Given the description of an element on the screen output the (x, y) to click on. 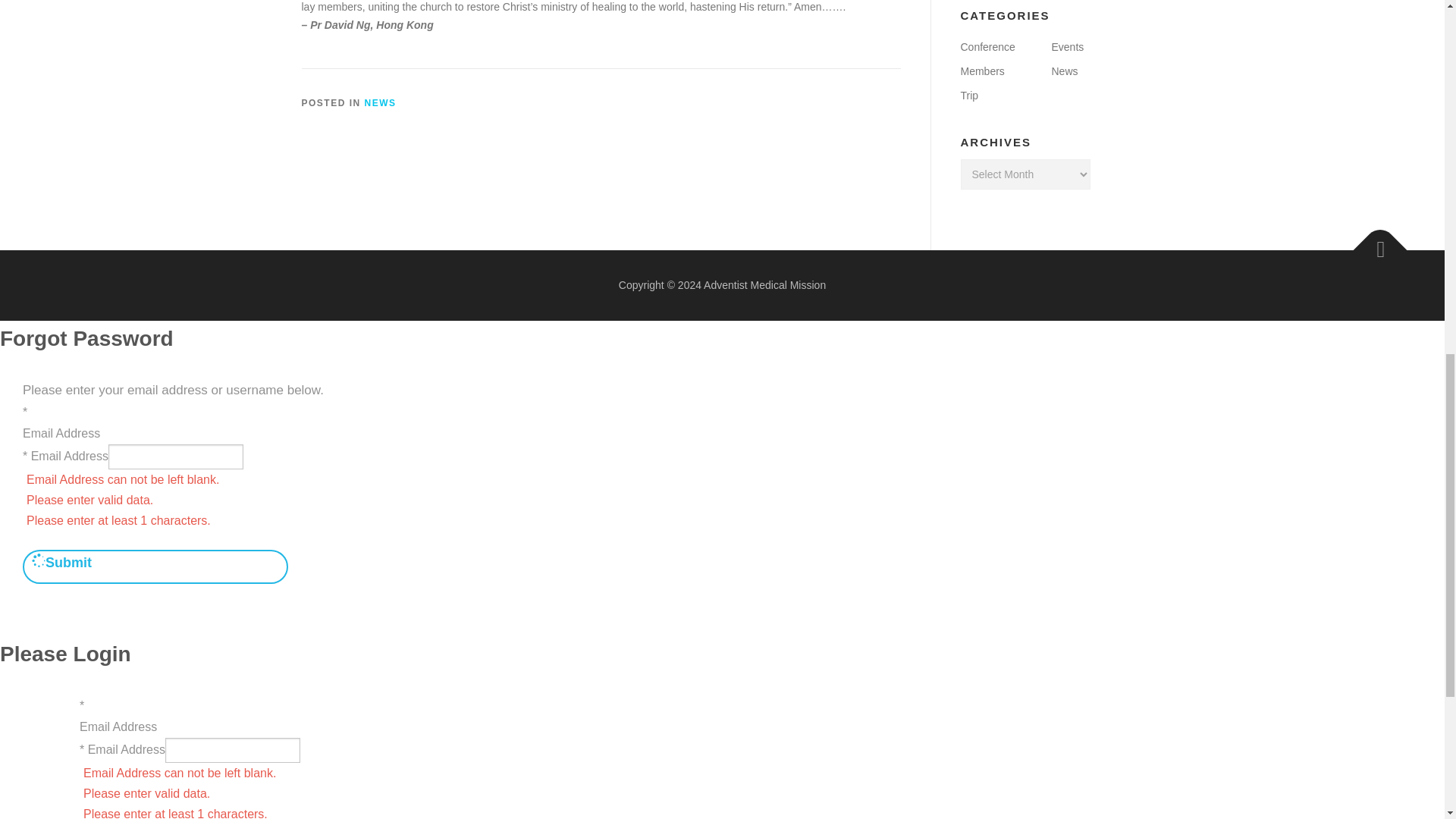
Conference (986, 46)
Back To Top (1372, 241)
News (1064, 70)
Events (1067, 46)
Members (981, 70)
Trip (968, 95)
NEWS (380, 102)
